Given the description of an element on the screen output the (x, y) to click on. 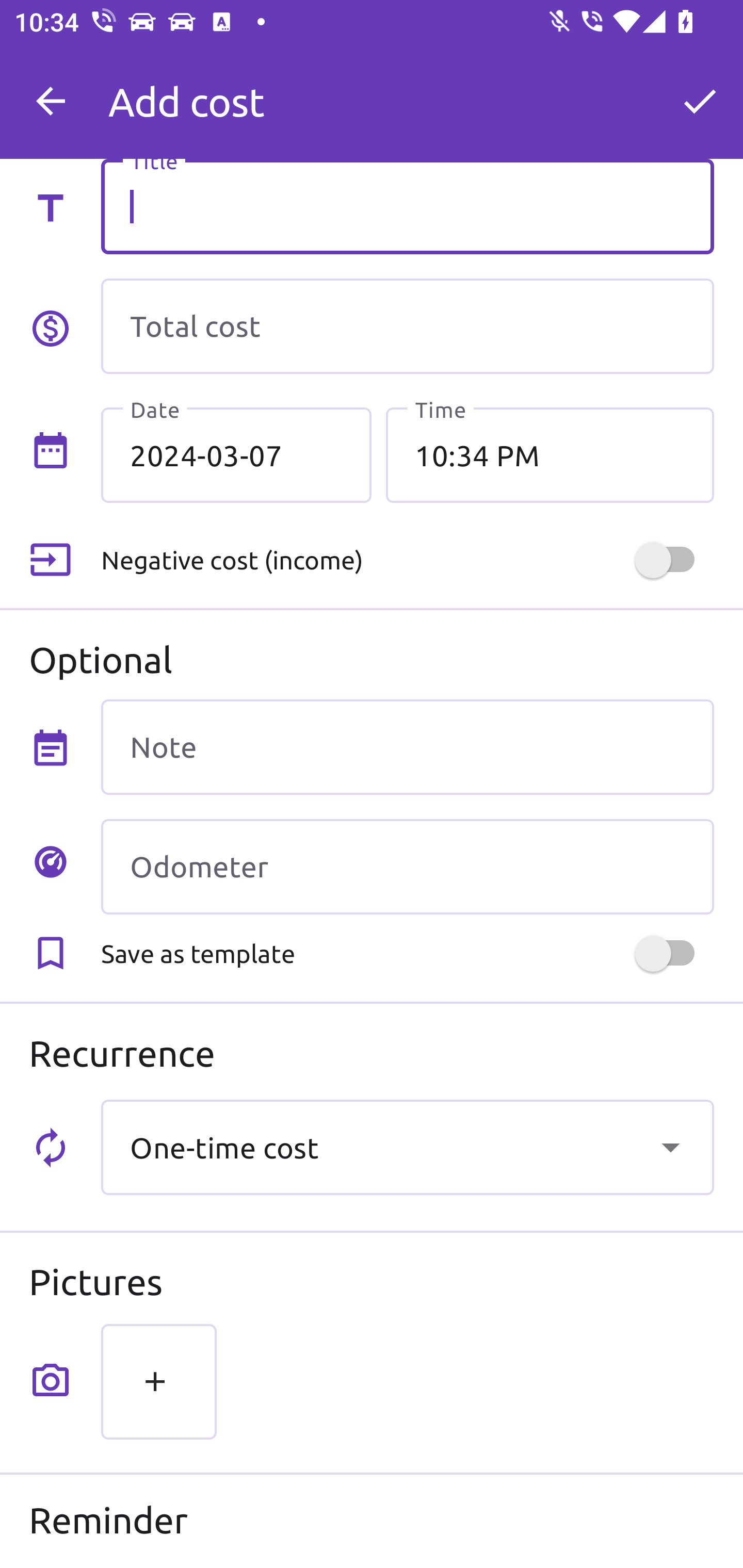
A No name 0 km (407, 92)
Navigate up (50, 101)
OK (699, 101)
Title (407, 206)
Total cost  (407, 326)
2024-03-07 (236, 455)
10:34 PM (549, 455)
Negative cost (income) (407, 559)
Note (407, 746)
Odometer (407, 866)
Save as template (407, 953)
One-time cost (407, 1146)
Show dropdown menu (670, 1146)
